Given the description of an element on the screen output the (x, y) to click on. 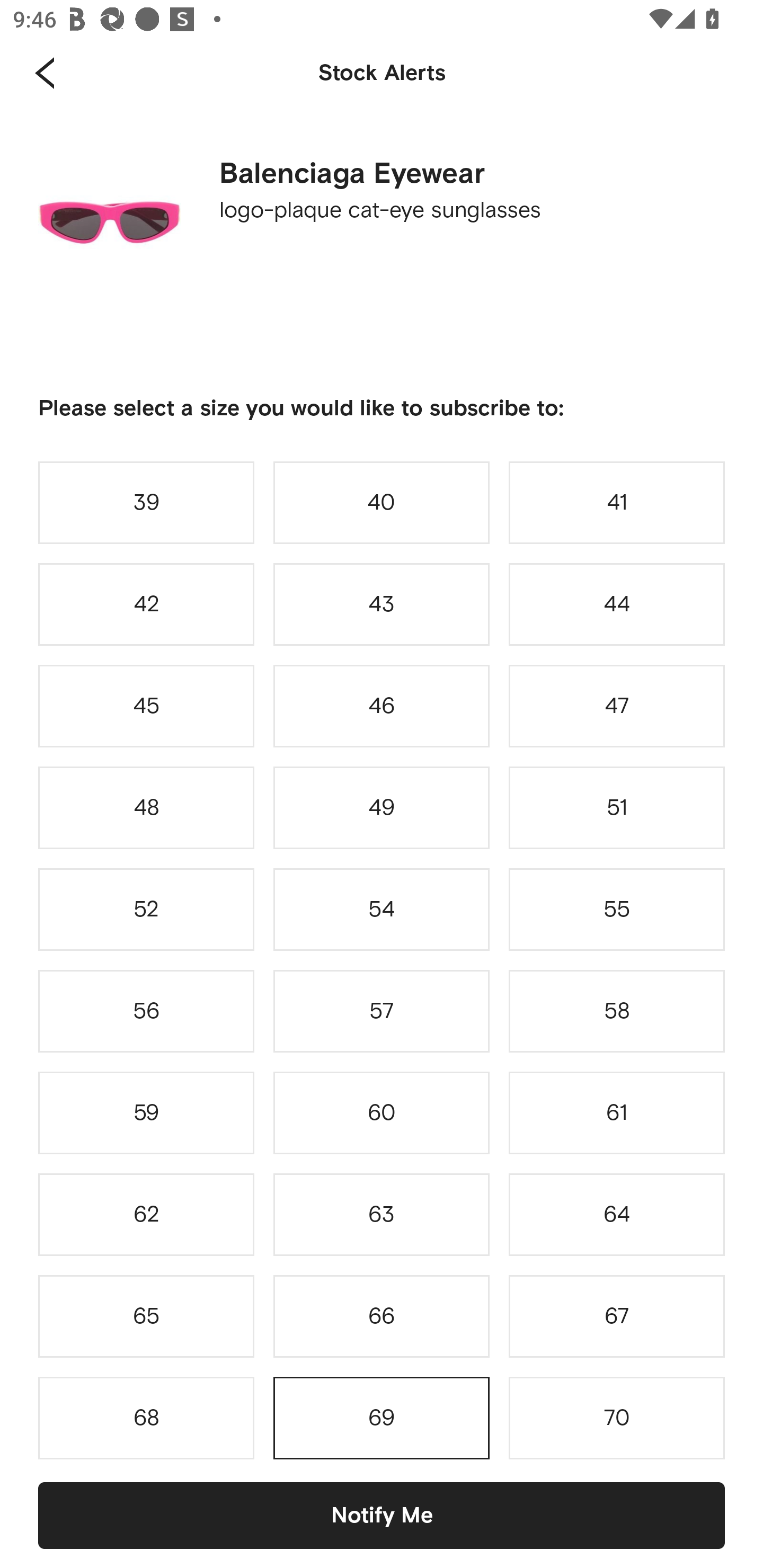
39 (146, 502)
40 (381, 502)
41 (616, 502)
42 (146, 604)
43 (381, 604)
44 (616, 604)
45 (146, 705)
46 (381, 705)
47 (616, 705)
48 (146, 807)
49 (381, 807)
51 (616, 807)
52 (146, 909)
54 (381, 909)
55 (616, 909)
56 (146, 1011)
57 (381, 1011)
58 (616, 1011)
59 (146, 1112)
60 (381, 1112)
61 (616, 1112)
62 (146, 1213)
63 (381, 1213)
64 (616, 1213)
65 (146, 1315)
66 (381, 1315)
67 (616, 1315)
68 (146, 1417)
69 (381, 1417)
70 (616, 1417)
Notify Me (381, 1515)
